Given the description of an element on the screen output the (x, y) to click on. 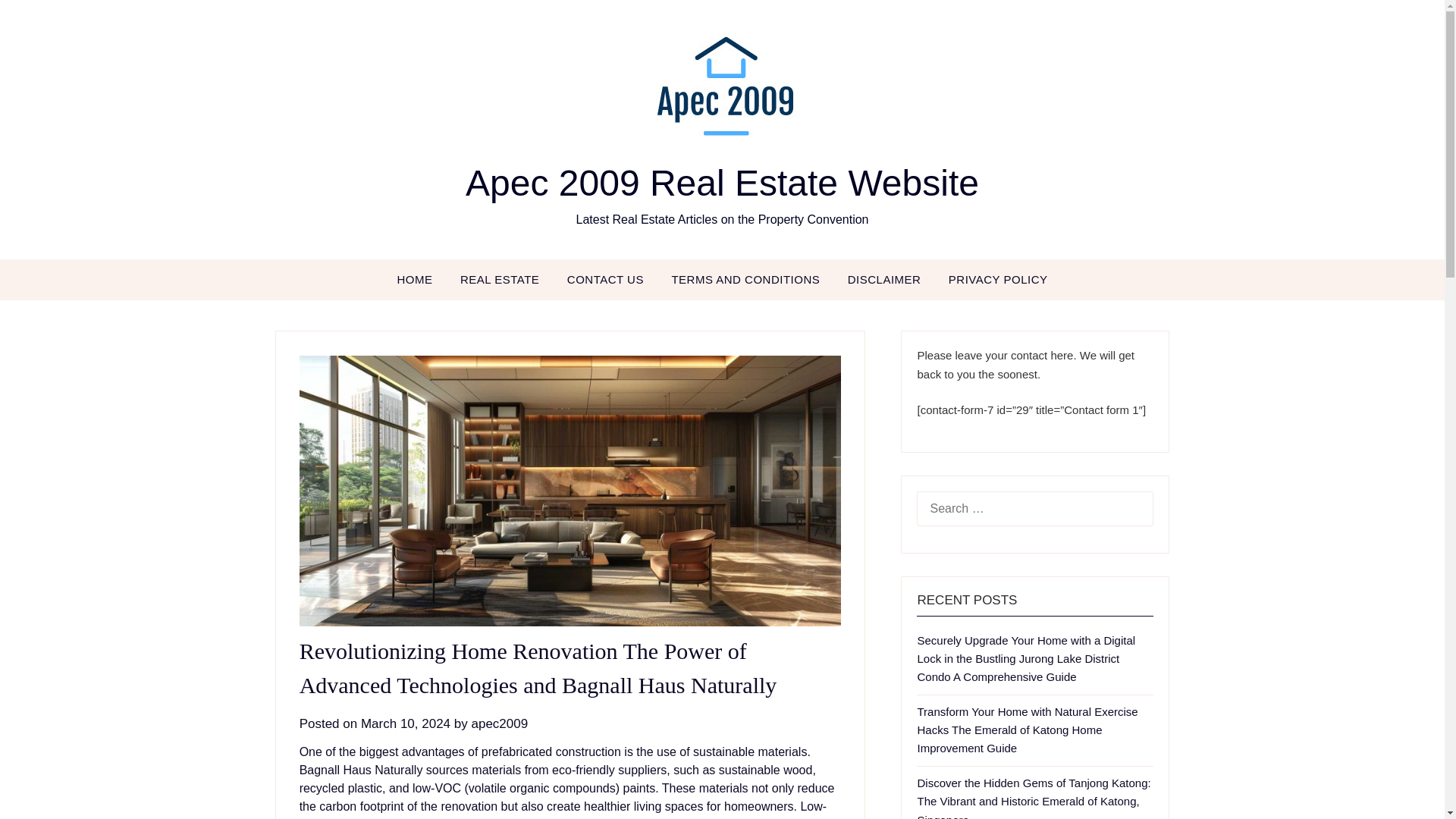
Apec 2009 Real Estate Website (721, 182)
Search (38, 22)
DISCLAIMER (884, 279)
apec2009 (498, 723)
CONTACT US (605, 279)
REAL ESTATE (499, 279)
TERMS AND CONDITIONS (745, 279)
